Given the description of an element on the screen output the (x, y) to click on. 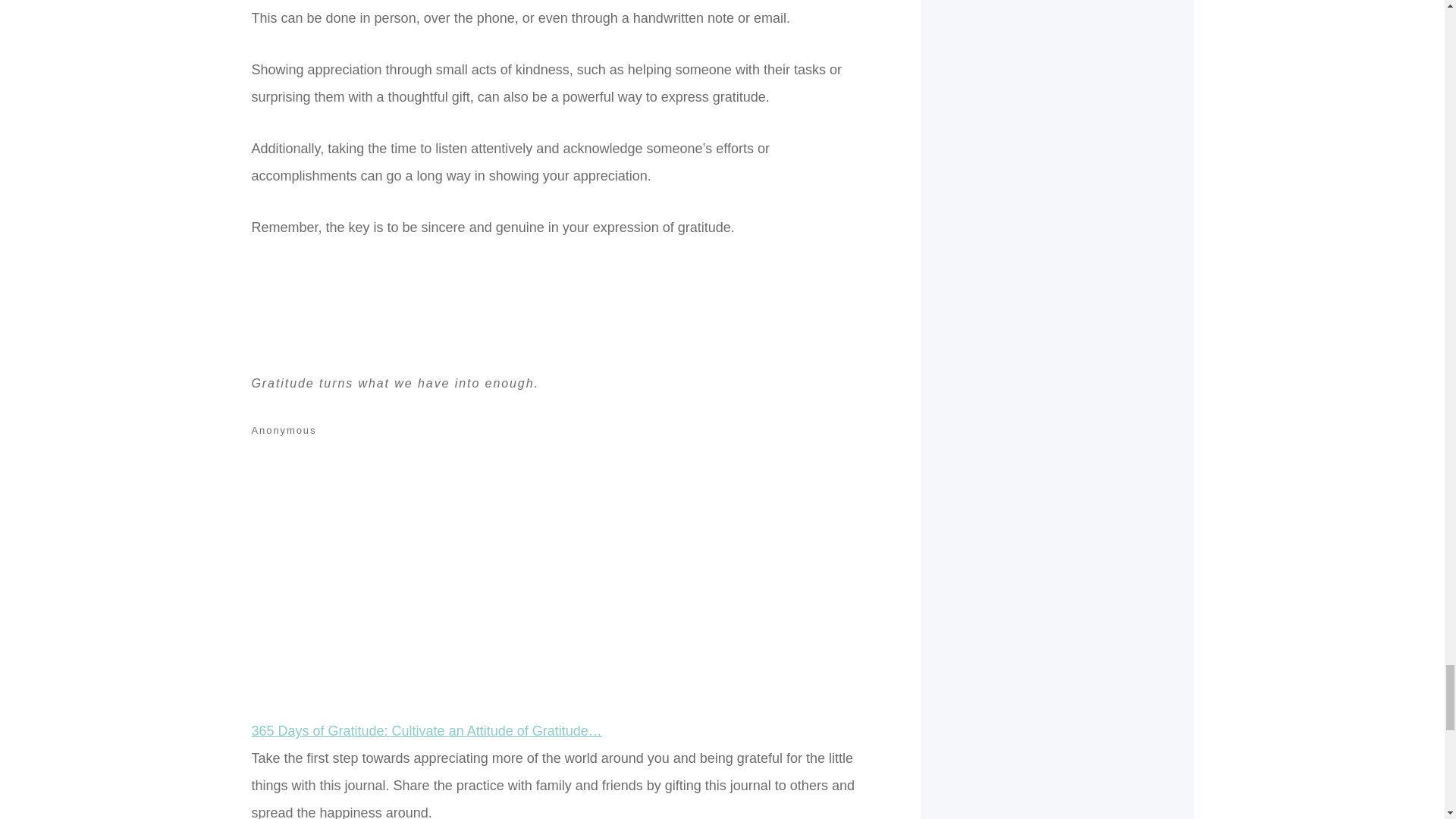
365 Days of Gratitude: Cultivate an Attitude of Gratitude... (426, 730)
365 Days of Gratitude: Cultivate an Attitude of Gratitude... (561, 660)
